Given the description of an element on the screen output the (x, y) to click on. 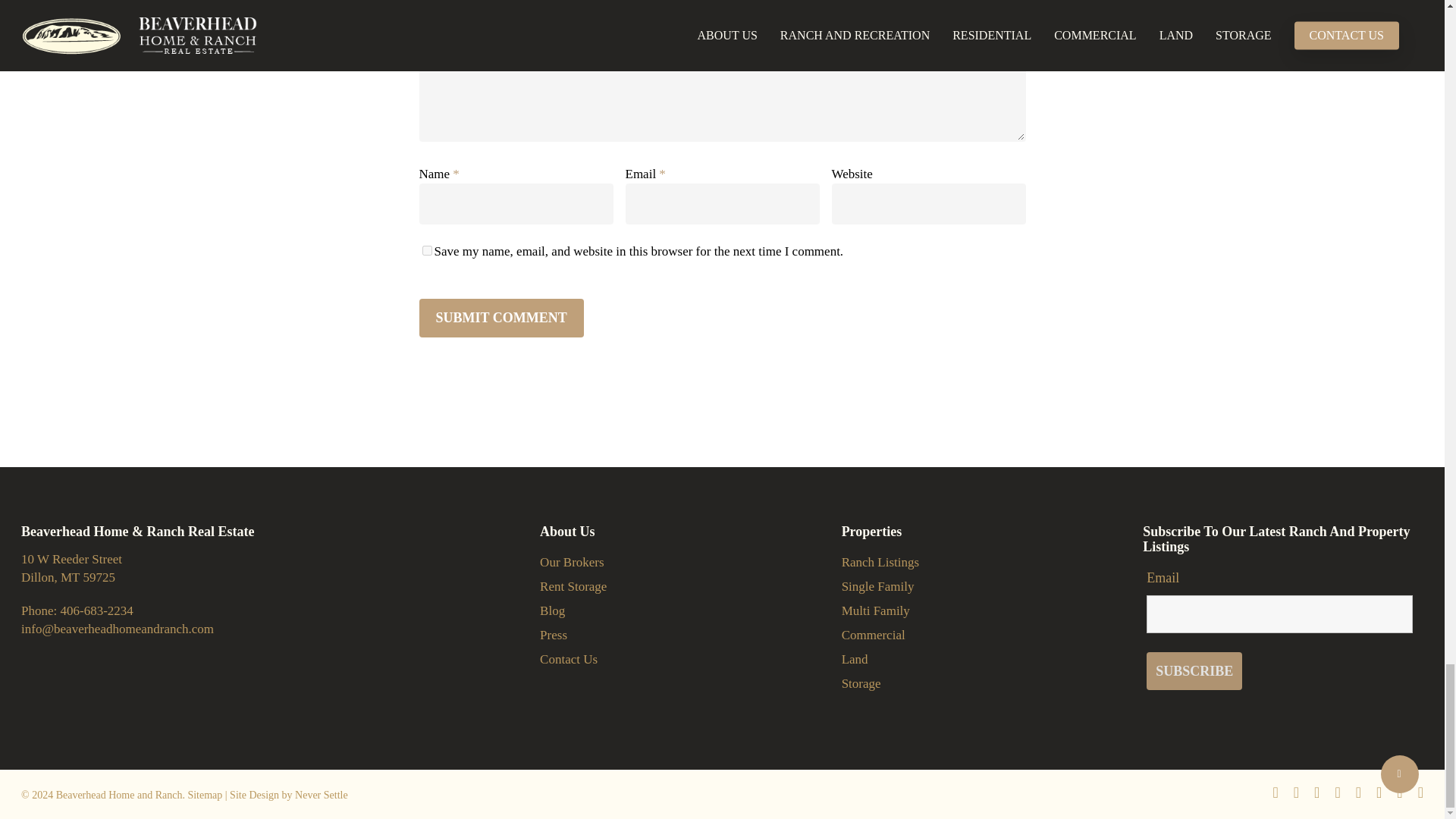
Submit Comment (501, 317)
Subscribe (1194, 670)
yes (426, 250)
